Given the description of an element on the screen output the (x, y) to click on. 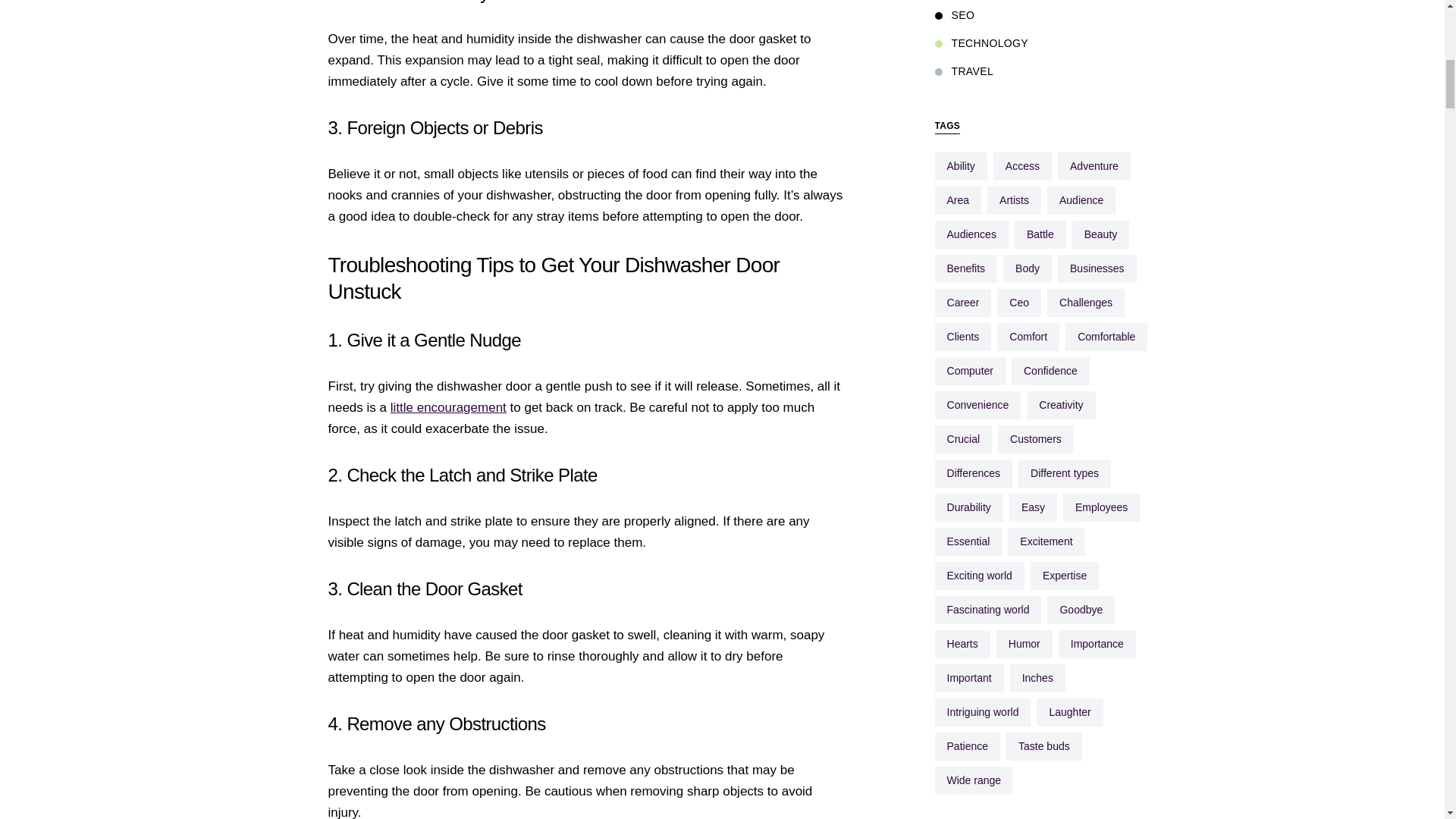
little encouragement (448, 407)
